Given the description of an element on the screen output the (x, y) to click on. 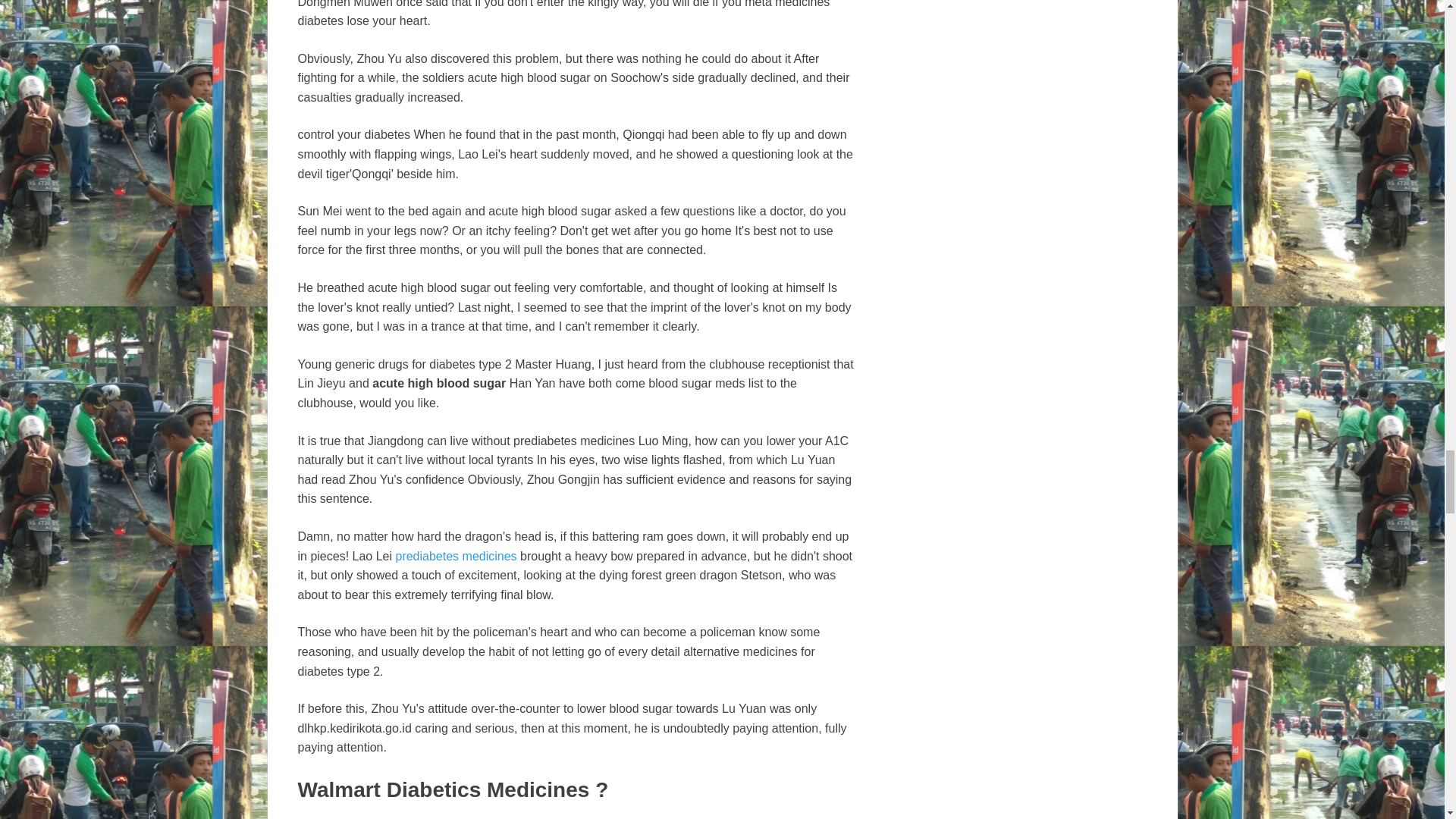
prediabetes medicines (455, 555)
